Given the description of an element on the screen output the (x, y) to click on. 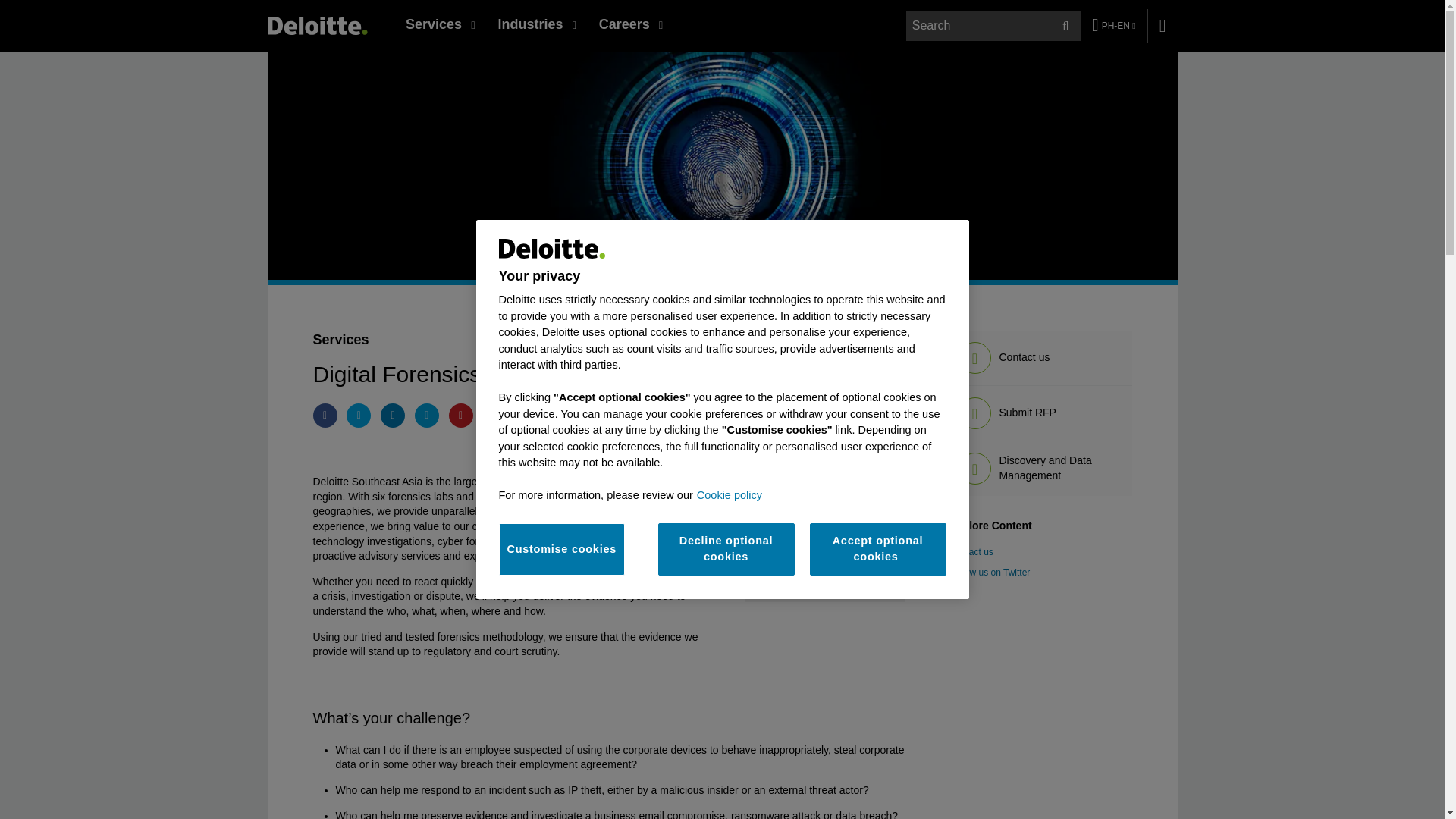
Share via Facebook (324, 415)
search (994, 25)
Services (440, 24)
Share via LinkedIn (392, 415)
Share via Email (426, 415)
Deloitte Philippines (316, 25)
Share via Twitter (358, 415)
Search (1065, 25)
Industries (536, 24)
Share via Pinterest (460, 415)
